Given the description of an element on the screen output the (x, y) to click on. 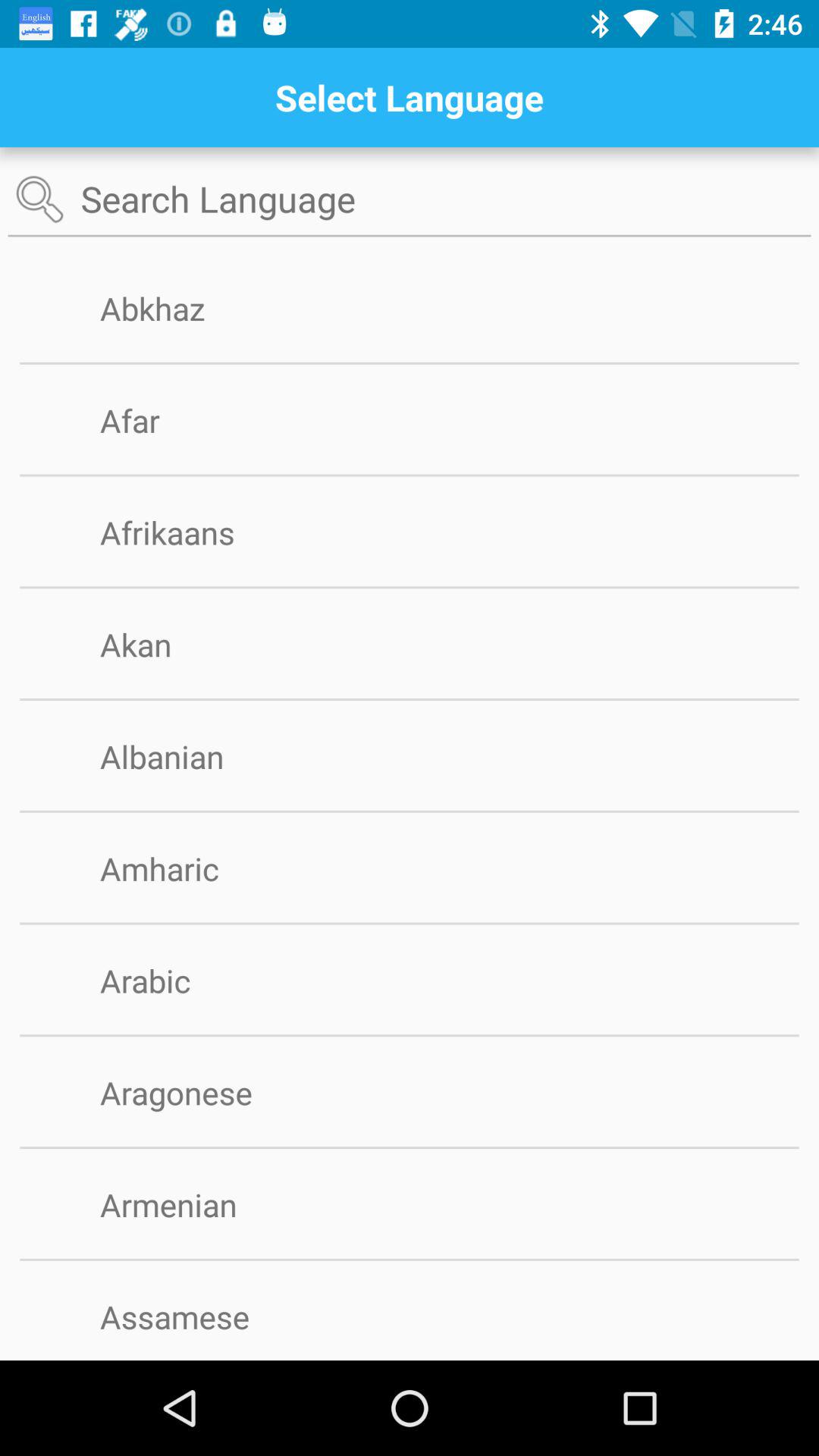
choose icon below afrikaans item (409, 587)
